Given the description of an element on the screen output the (x, y) to click on. 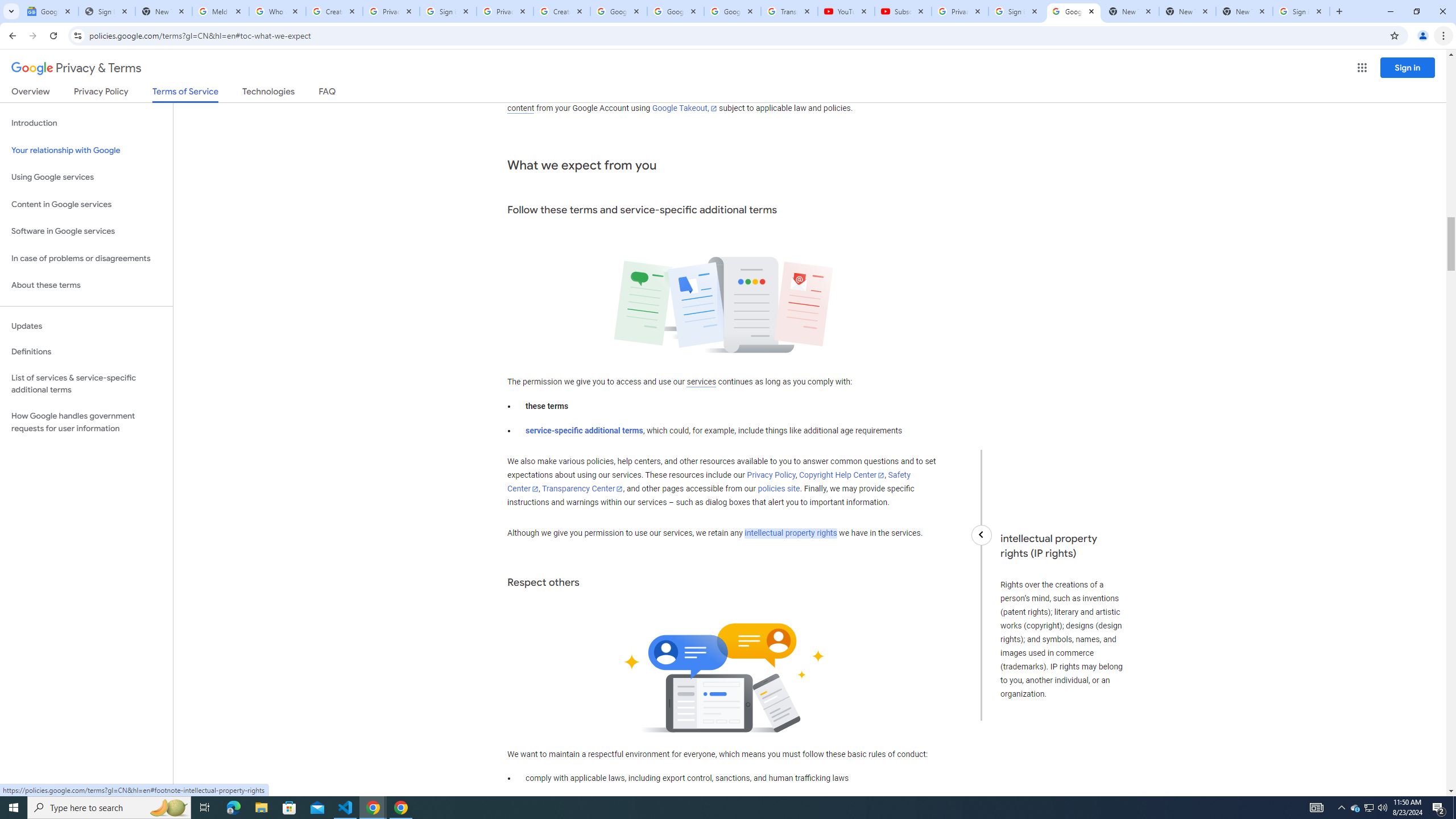
your content (710, 102)
YouTube (845, 11)
Google News (49, 11)
Introduction (86, 122)
Transparency Center (582, 488)
Google Account (731, 11)
Create your Google Account (334, 11)
Privacy & Terms (76, 68)
Sign in - Google Accounts (1301, 11)
